Given the description of an element on the screen output the (x, y) to click on. 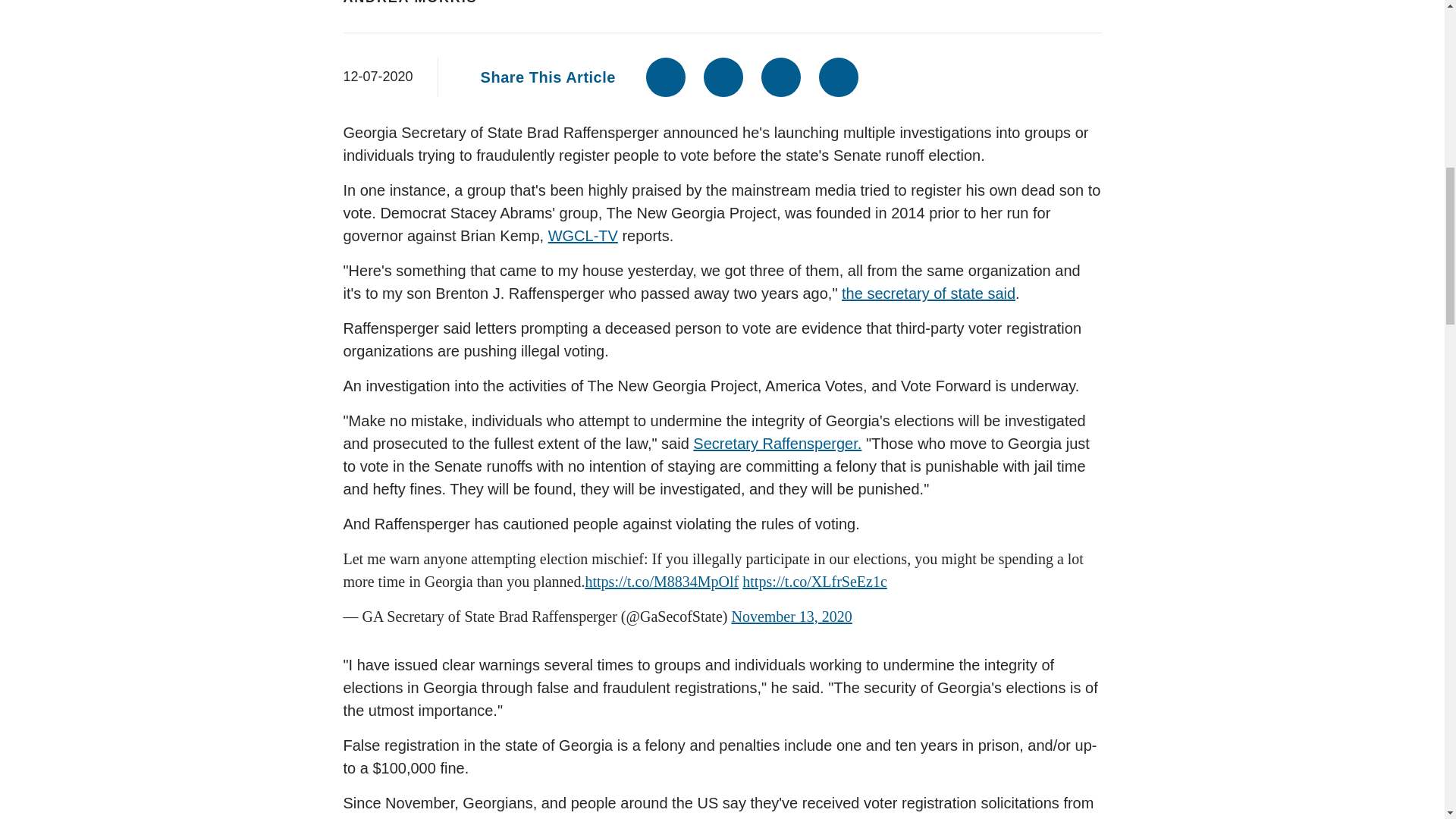
Mail (780, 77)
Facebook (665, 77)
Twitter (722, 77)
Link (838, 77)
